Given the description of an element on the screen output the (x, y) to click on. 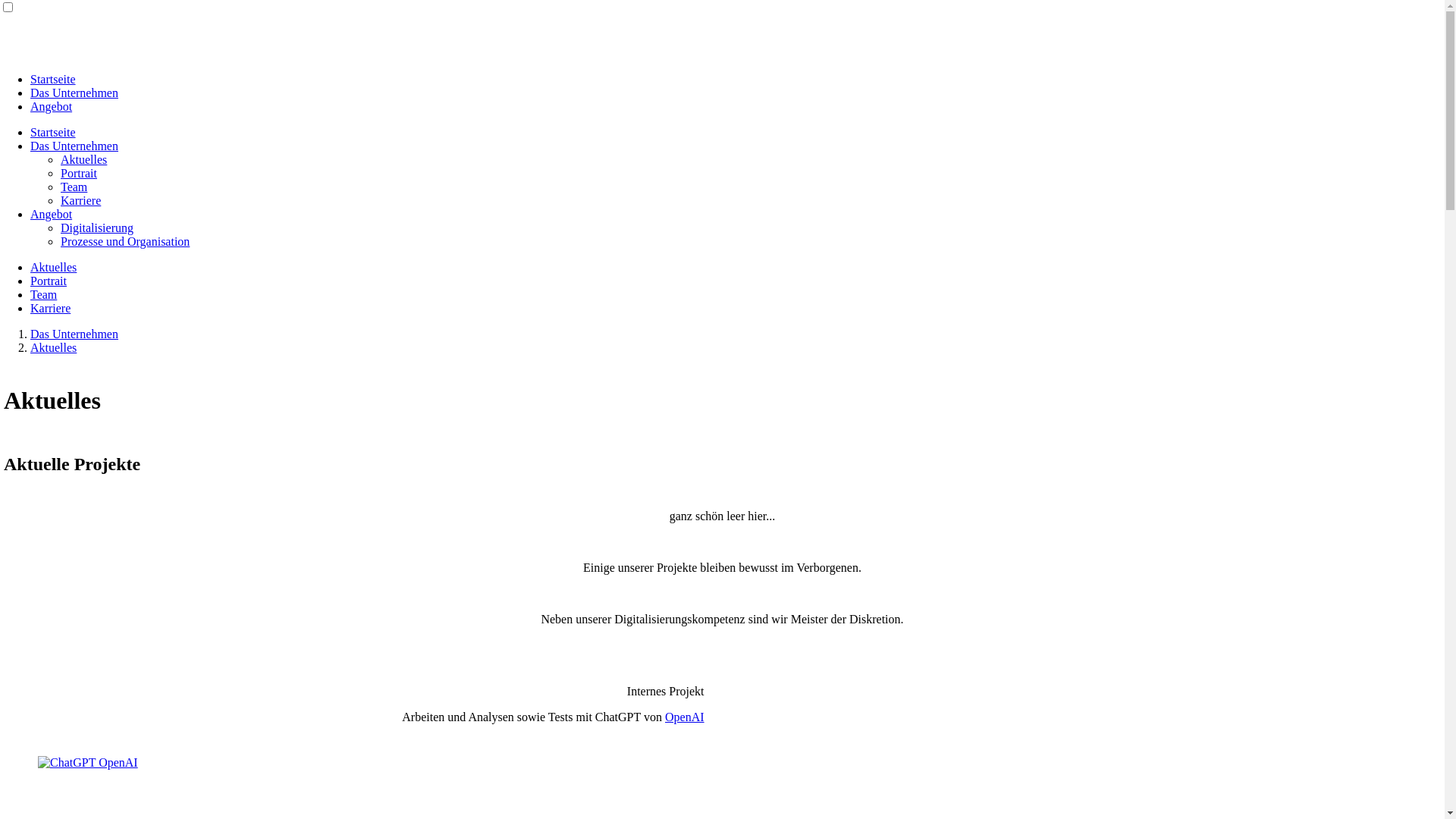
Karriere Element type: text (80, 200)
Portrait Element type: text (48, 280)
Aktuelles Element type: text (53, 347)
Prozesse und Organisation Element type: text (124, 241)
Aktuelles Element type: text (83, 159)
Das Unternehmen Element type: text (74, 92)
Das Unternehmen Element type: text (74, 333)
Aktuelles Element type: text (53, 266)
Karriere Element type: text (50, 307)
Das Unternehmen Element type: text (74, 145)
Angebot Element type: text (51, 106)
Angebot Element type: text (51, 213)
Digitalisierung Element type: text (96, 227)
Startseite Element type: text (52, 131)
Startseite Element type: text (52, 78)
OpenAI Element type: text (684, 716)
Team Element type: text (73, 186)
Team Element type: text (43, 294)
Portrait Element type: text (78, 172)
